Given the description of an element on the screen output the (x, y) to click on. 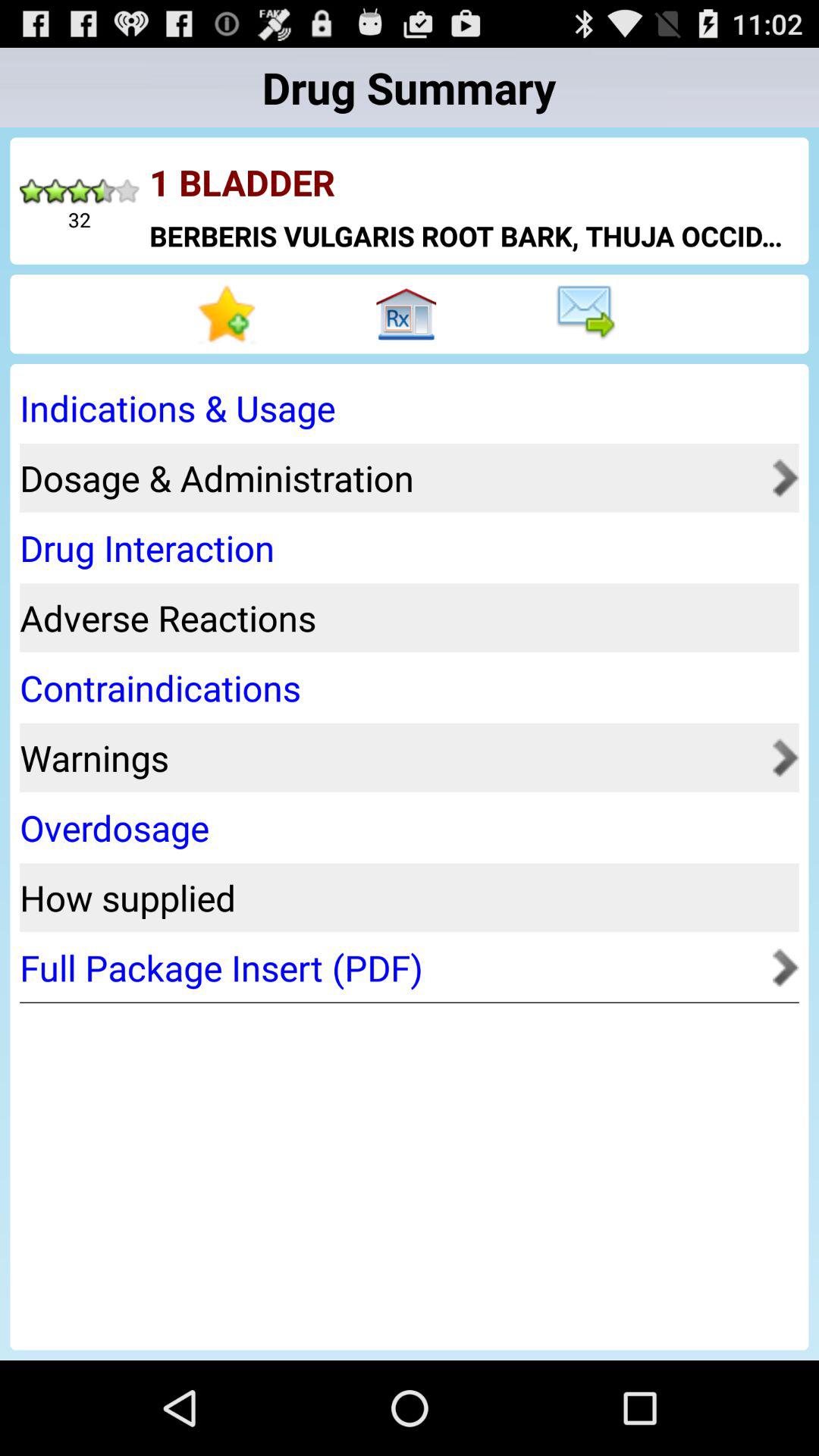
tap the how supplied (403, 897)
